Given the description of an element on the screen output the (x, y) to click on. 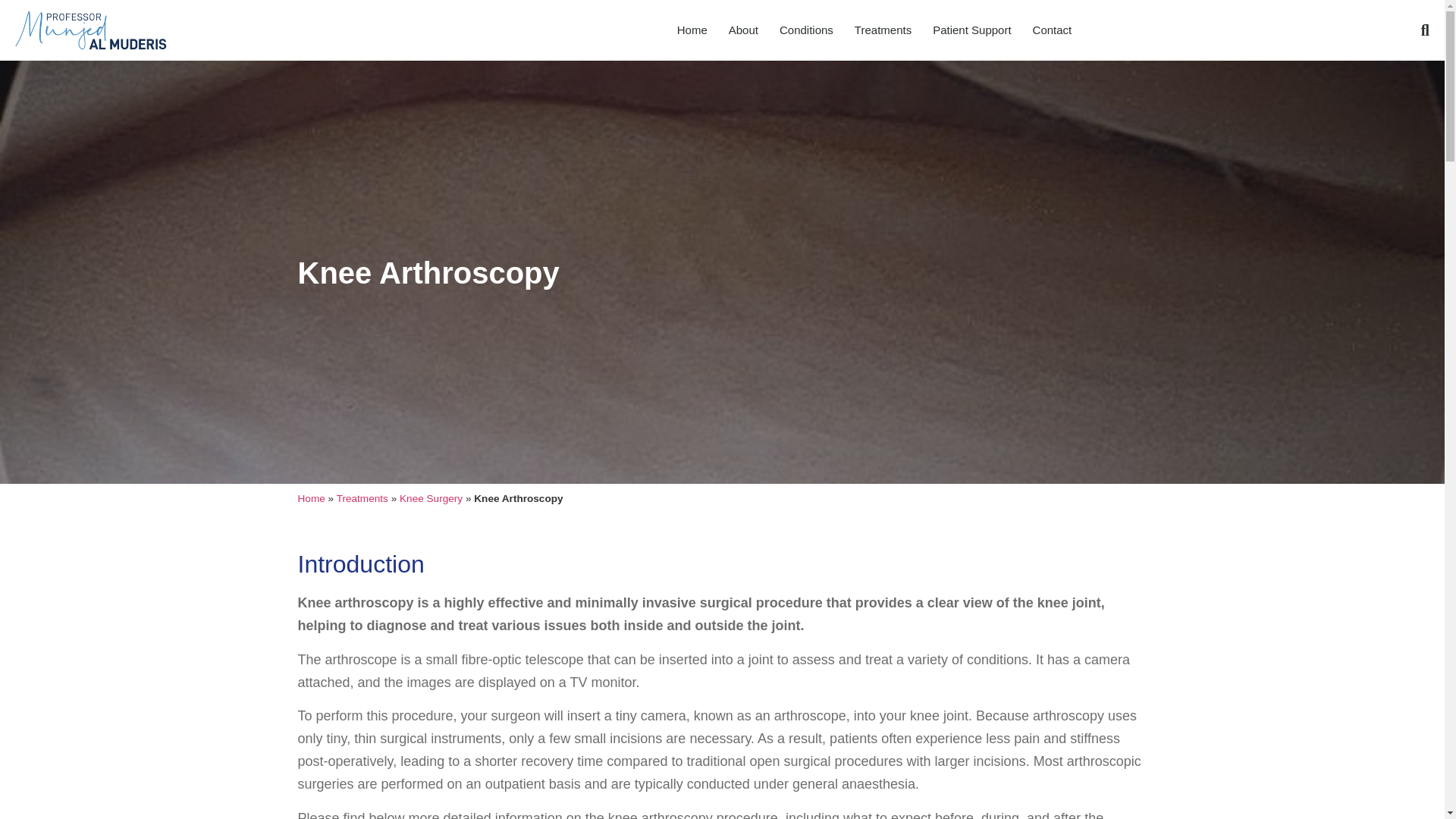
Home (691, 30)
About (743, 30)
Conditions (806, 30)
